Given the description of an element on the screen output the (x, y) to click on. 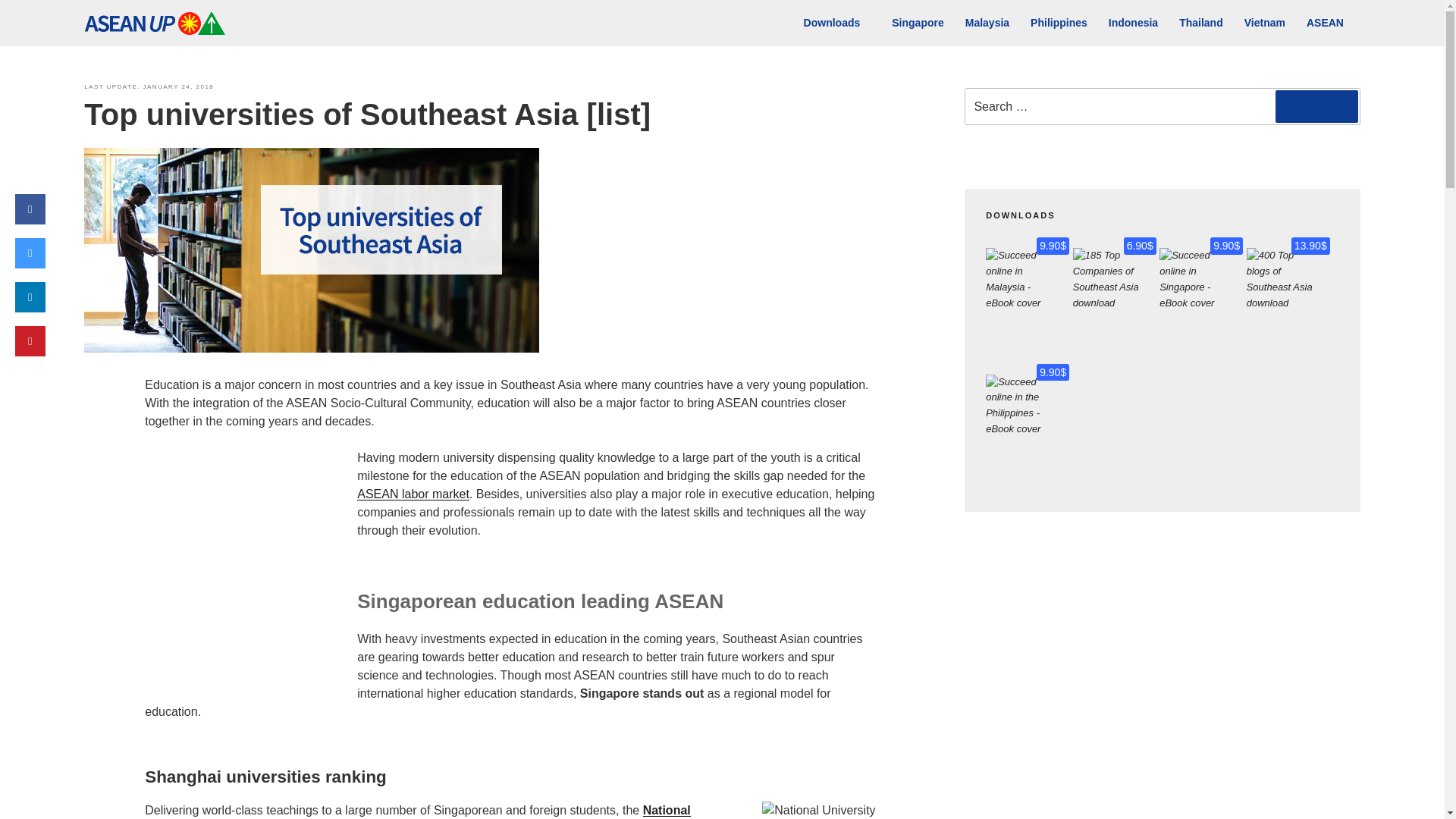
Indonesia (1133, 22)
Malaysia (987, 22)
Share on LinkedIn (29, 308)
ASEAN labor market (412, 493)
Share on Facebook (29, 219)
Philippines (1058, 22)
Thailand (1201, 22)
ASEAN (1330, 22)
Share on Pinterest (29, 351)
Singapore (916, 22)
Share on Twitter (29, 264)
Downloads (837, 22)
Vietnam (1264, 22)
